Given the description of an element on the screen output the (x, y) to click on. 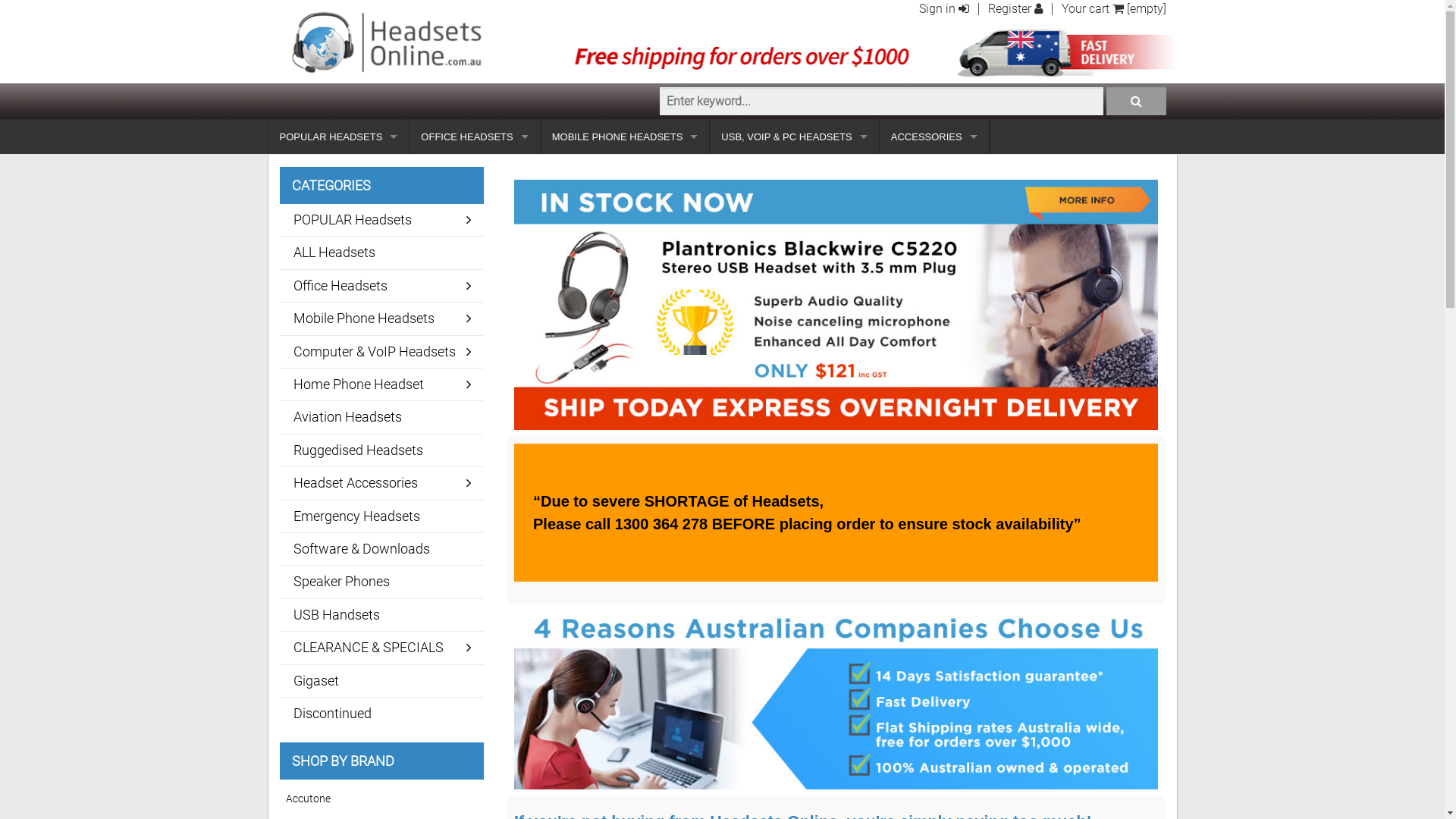
ALL Headsets Element type: text (381, 252)
Unified Communication Headsets Element type: text (474, 205)
Plantronics Accessories Element type: text (933, 205)
Wireless headsets Element type: text (338, 170)
Dragon Headsets Element type: text (474, 307)
Office Headsets Element type: text (381, 285)
Discontinued Element type: text (381, 713)
Jabra Accessories Element type: text (933, 170)
Corded headsets Element type: text (338, 205)
Show all Element type: text (474, 170)
Software & Downloads Element type: text (381, 548)
Wireless headsets Element type: text (474, 239)
Specials Element type: text (624, 239)
Sennheiser Accessories Element type: text (933, 273)
Polaris Accessories Element type: text (933, 239)
Speaker Phones Element type: text (381, 581)
Register Element type: text (1014, 9)
Headset Accessories Element type: text (381, 482)
POPULAR Headsets Element type: text (381, 219)
Sign in Element type: text (944, 9)
Most popular Element type: text (624, 205)
Corded headsets Element type: text (474, 273)
Home Phone Headset Element type: text (381, 384)
Accutone Element type: text (382, 798)
Show all Element type: text (624, 170)
Computer & VoIP Headsets Element type: text (381, 351)
POPULAR HEADSETS Element type: text (338, 136)
MOBILE PHONE HEADSETS Element type: text (624, 136)
Your cart [empty] Element type: text (1113, 9)
Emergency Headsets Element type: text (381, 516)
Gigaset Element type: text (381, 680)
USB Handsets Element type: text (381, 614)
Most popular Element type: text (793, 239)
Wireless USB Element type: text (793, 341)
USB, VOIP & PC HEADSETS Element type: text (793, 136)
Brands Element type: text (624, 273)
Gaming headsets Element type: text (793, 375)
Specials Element type: text (793, 273)
ACCESSORIES Element type: text (933, 136)
Bluetooth headsets Element type: text (338, 273)
Show all USB Element type: text (793, 205)
Ruggedised Headsets Element type: text (381, 450)
Usb & voip headsets Element type: text (338, 239)
Corded USB Element type: text (793, 307)
CLEARANCE & SPECIALS Element type: text (381, 647)
Mobile Phone Headsets Element type: text (381, 318)
Brands Element type: text (793, 409)
OFFICE HEADSETS Element type: text (474, 136)
Unified Communication Headsets Element type: text (793, 170)
Aviation Headsets Element type: text (381, 417)
